Given the description of an element on the screen output the (x, y) to click on. 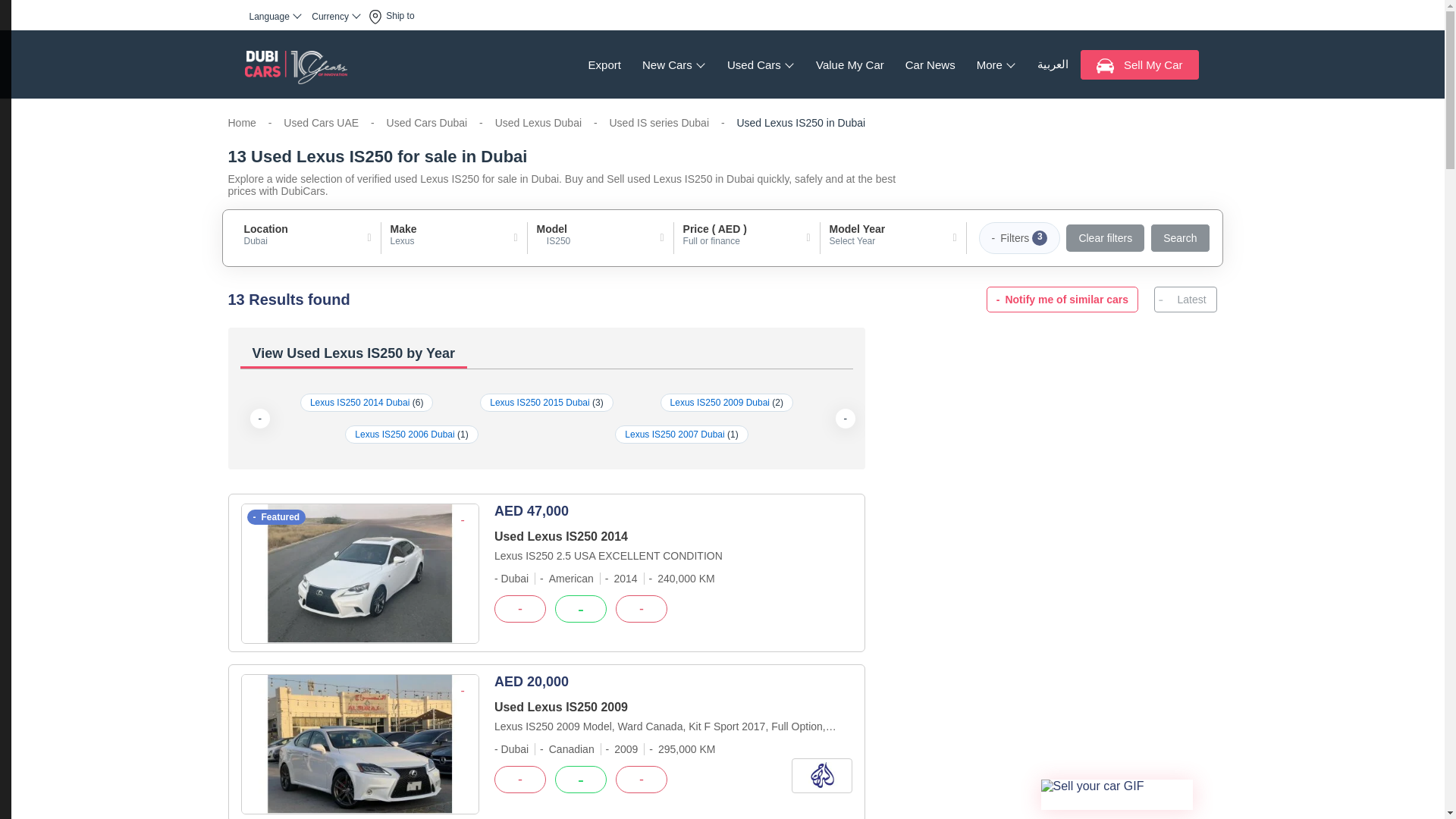
New Cars (673, 63)
Car News (929, 63)
Language (275, 15)
View Used Lexus IS250 by Year (545, 355)
Used Cars (760, 63)
Currency (336, 15)
Sell My Car (1139, 64)
Value My Car (849, 63)
